Given the description of an element on the screen output the (x, y) to click on. 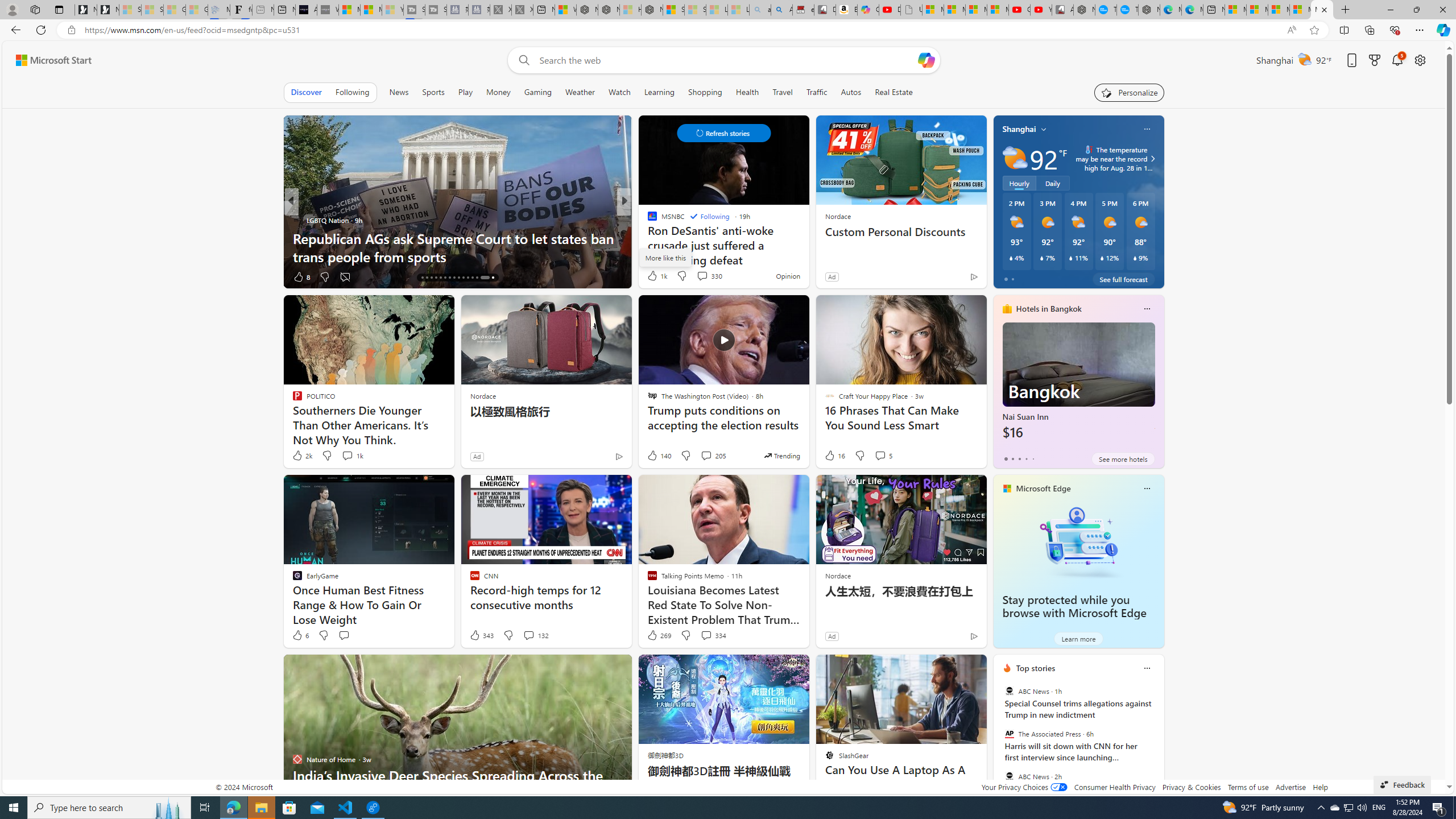
hotels-header-icon (1006, 308)
Partly sunny (1014, 158)
AutomationID: tab-28 (476, 277)
View comments 205 Comment (705, 455)
View comments 1k Comment (346, 455)
Nordace - My Account (1083, 9)
Terms of use (1247, 786)
AutomationID: tab-27 (472, 277)
AutomationID: tab-20 (440, 277)
